Given the description of an element on the screen output the (x, y) to click on. 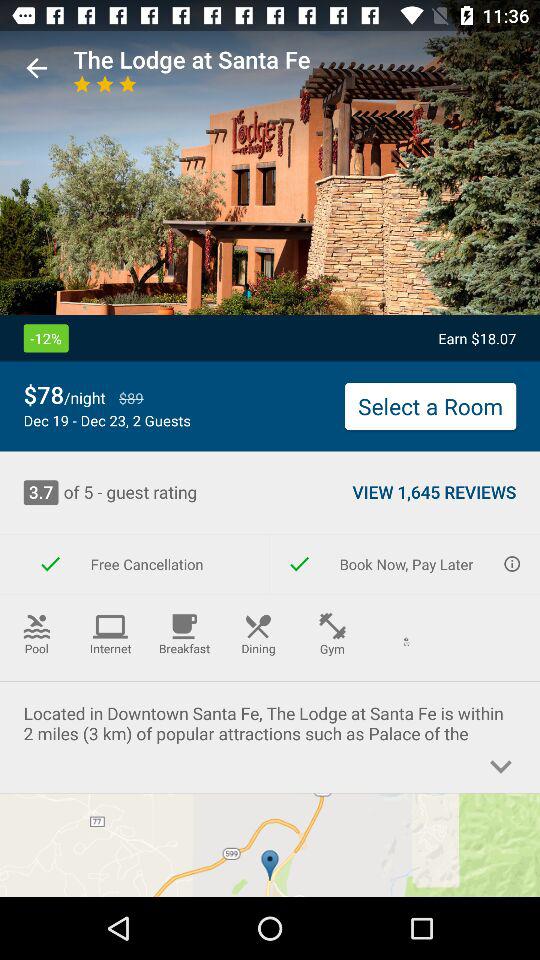
press the item to the left of the the lodge at (36, 68)
